Given the description of an element on the screen output the (x, y) to click on. 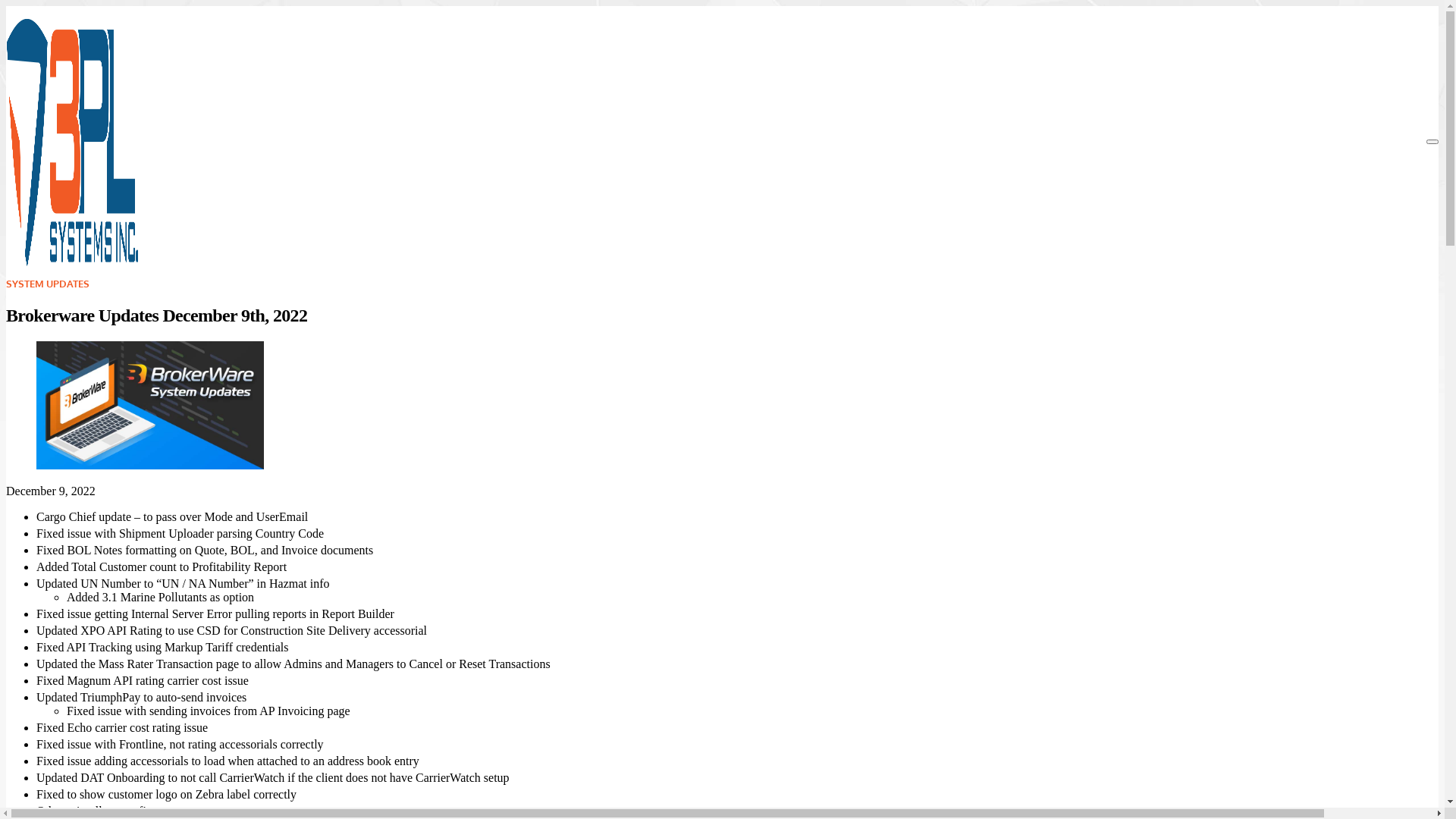
SYSTEM UPDATES Element type: text (47, 283)
Skip to main content Element type: text (36, 6)
Menu Element type: text (1432, 141)
